Given the description of an element on the screen output the (x, y) to click on. 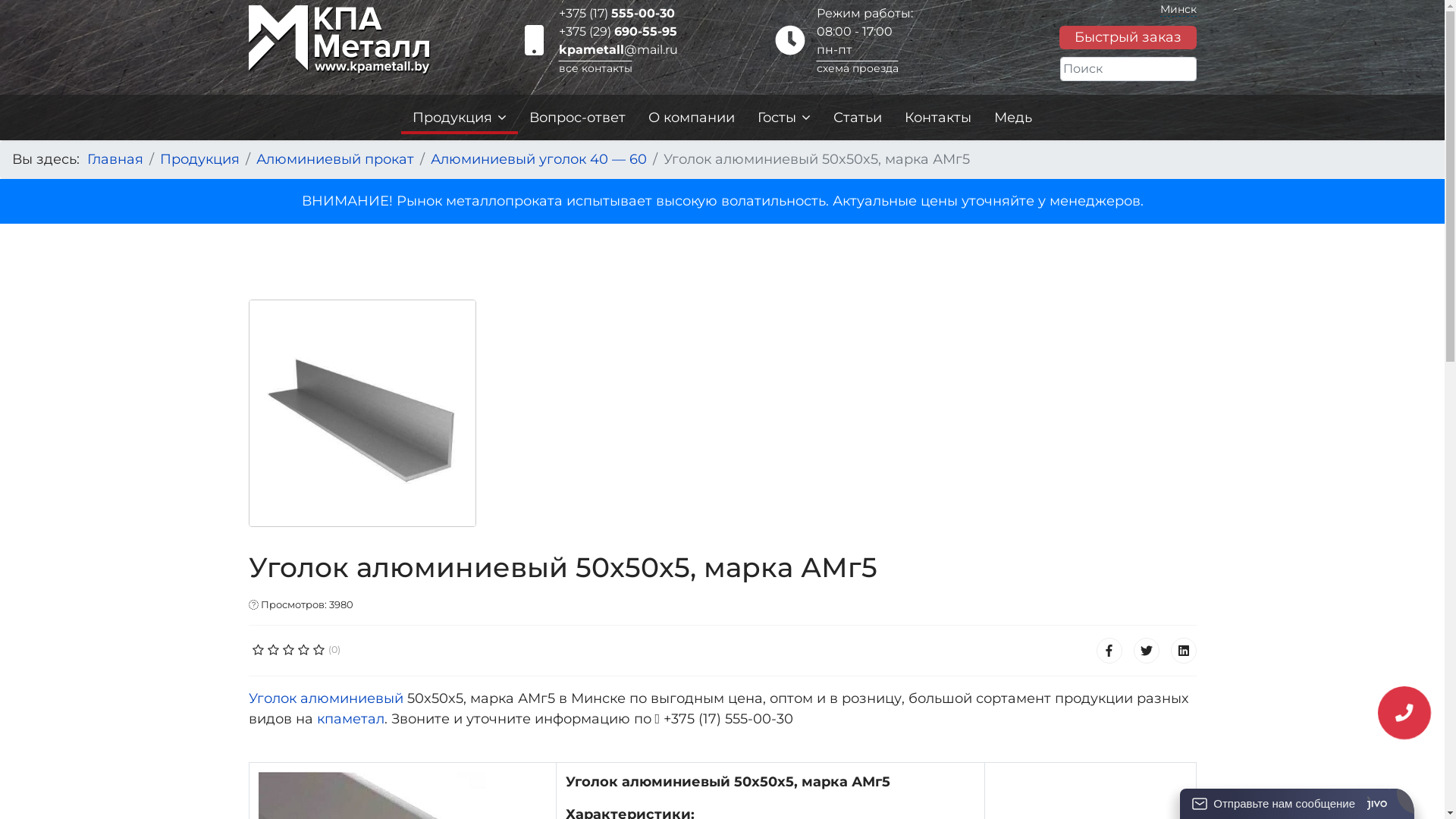
Twitter Element type: hover (1145, 650)
+375 (17) 555-00-30 Element type: text (616, 13)
Facebook Element type: hover (1109, 650)
+375 (29) 690-55-95 Element type: text (617, 31)
LinkedIn Element type: hover (1183, 650)
kpametall@mail.ru Element type: text (617, 49)
